Given the description of an element on the screen output the (x, y) to click on. 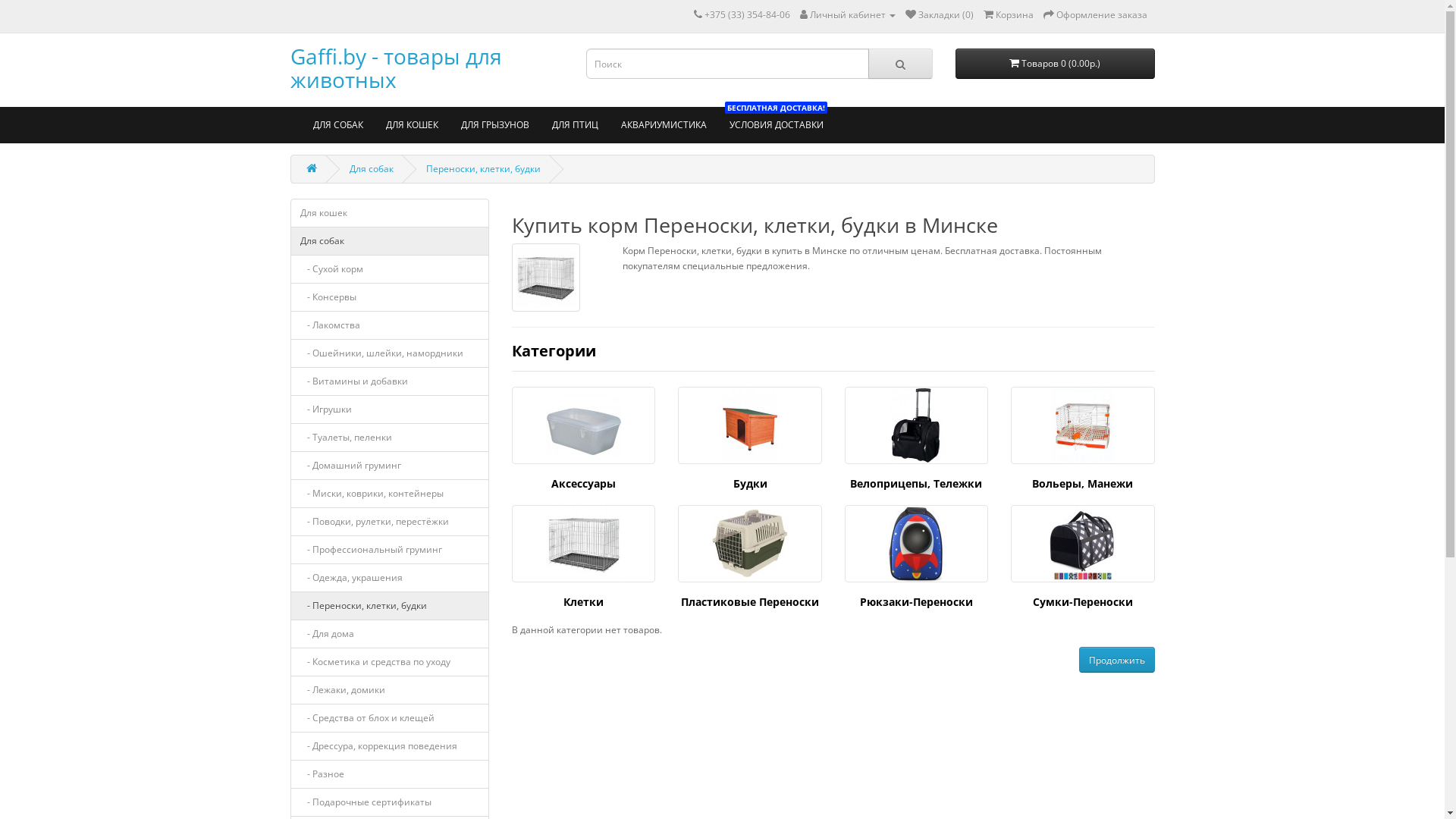
+375 (33) 354-84-06 Element type: text (746, 14)
